Given the description of an element on the screen output the (x, y) to click on. 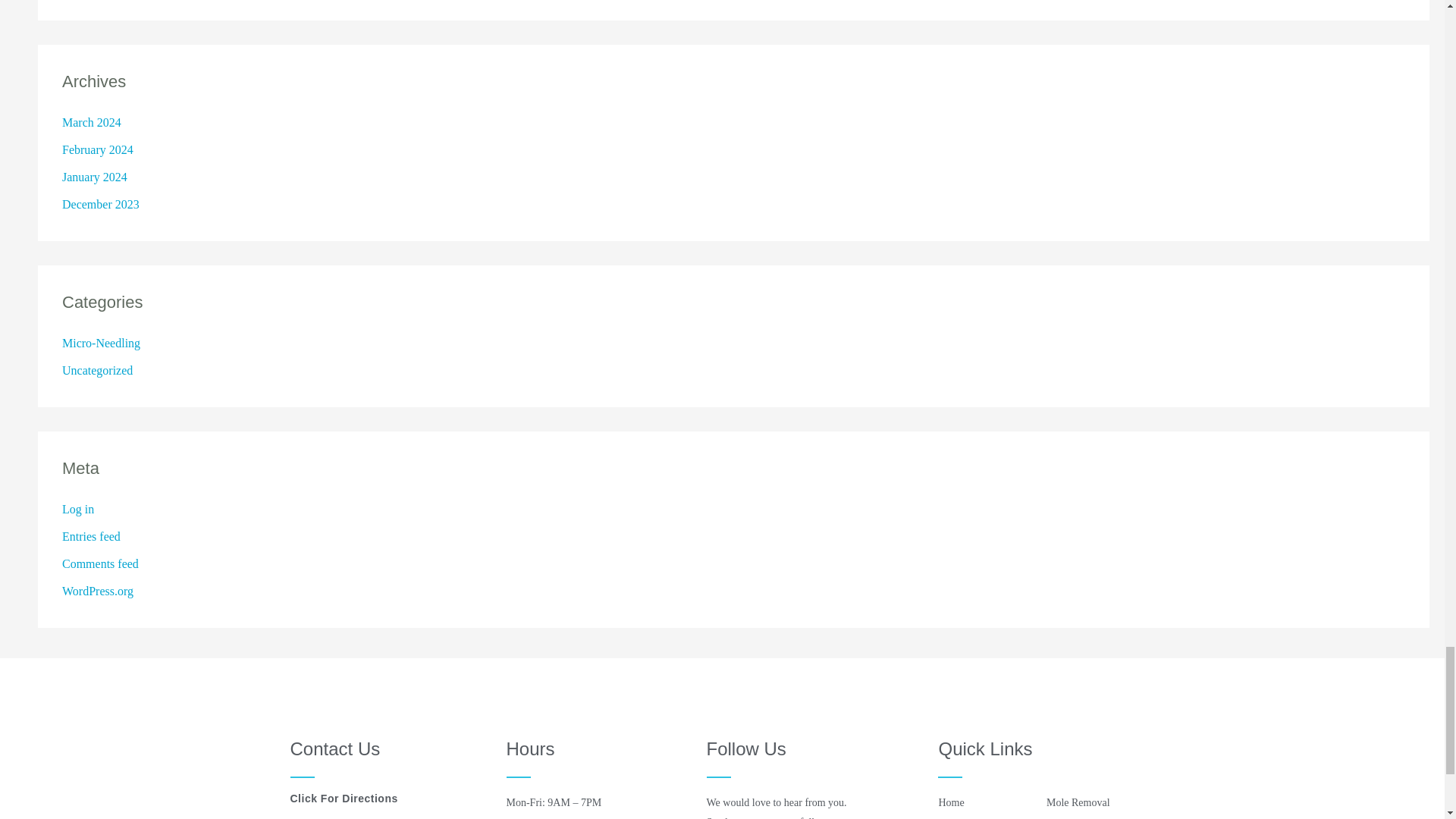
February 2024 (97, 149)
March 2024 (91, 122)
